Given the description of an element on the screen output the (x, y) to click on. 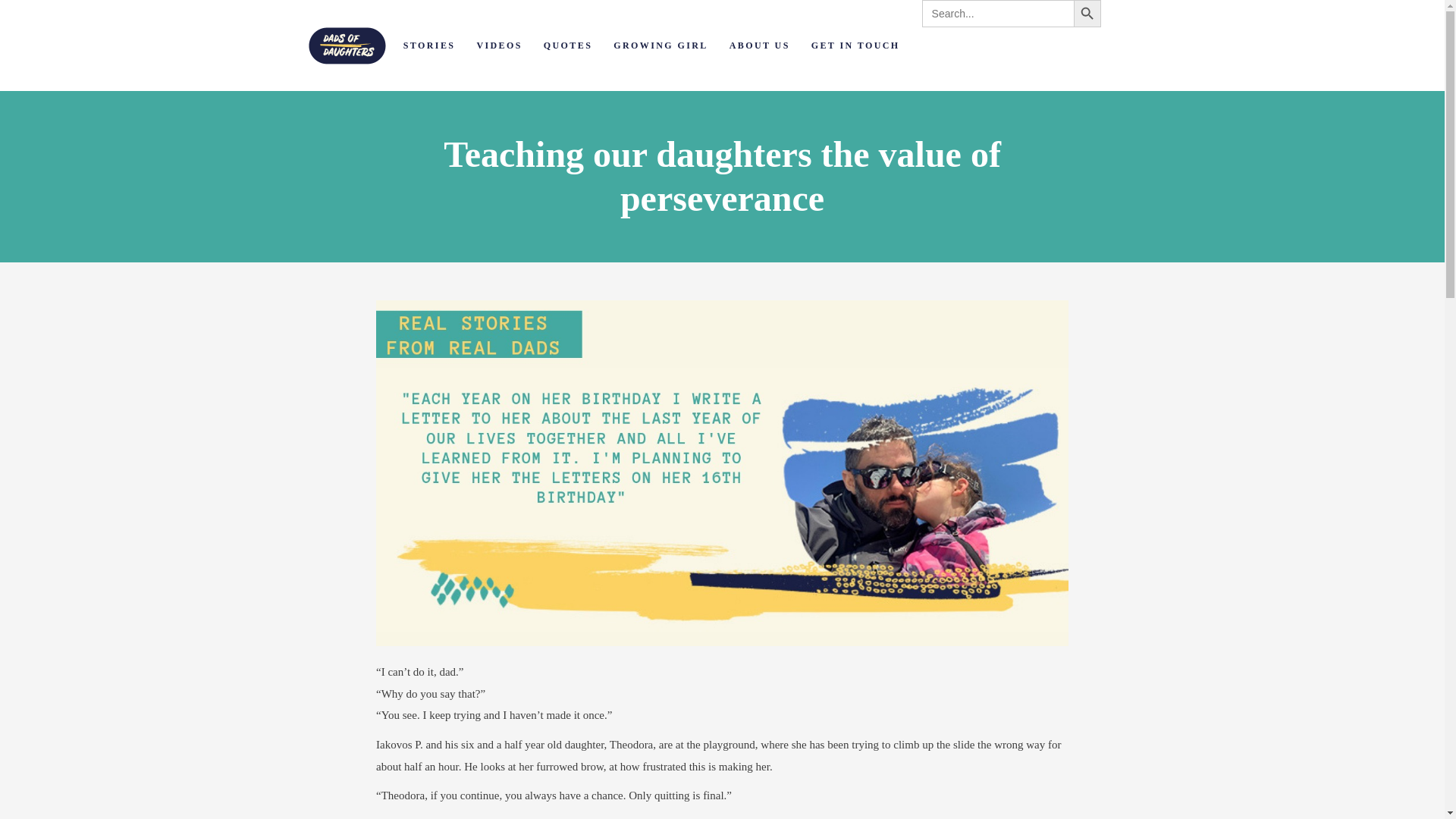
ABOUT US (759, 45)
GROWING GIRL (659, 45)
Search Button (1087, 13)
GET IN TOUCH (855, 45)
